Given the description of an element on the screen output the (x, y) to click on. 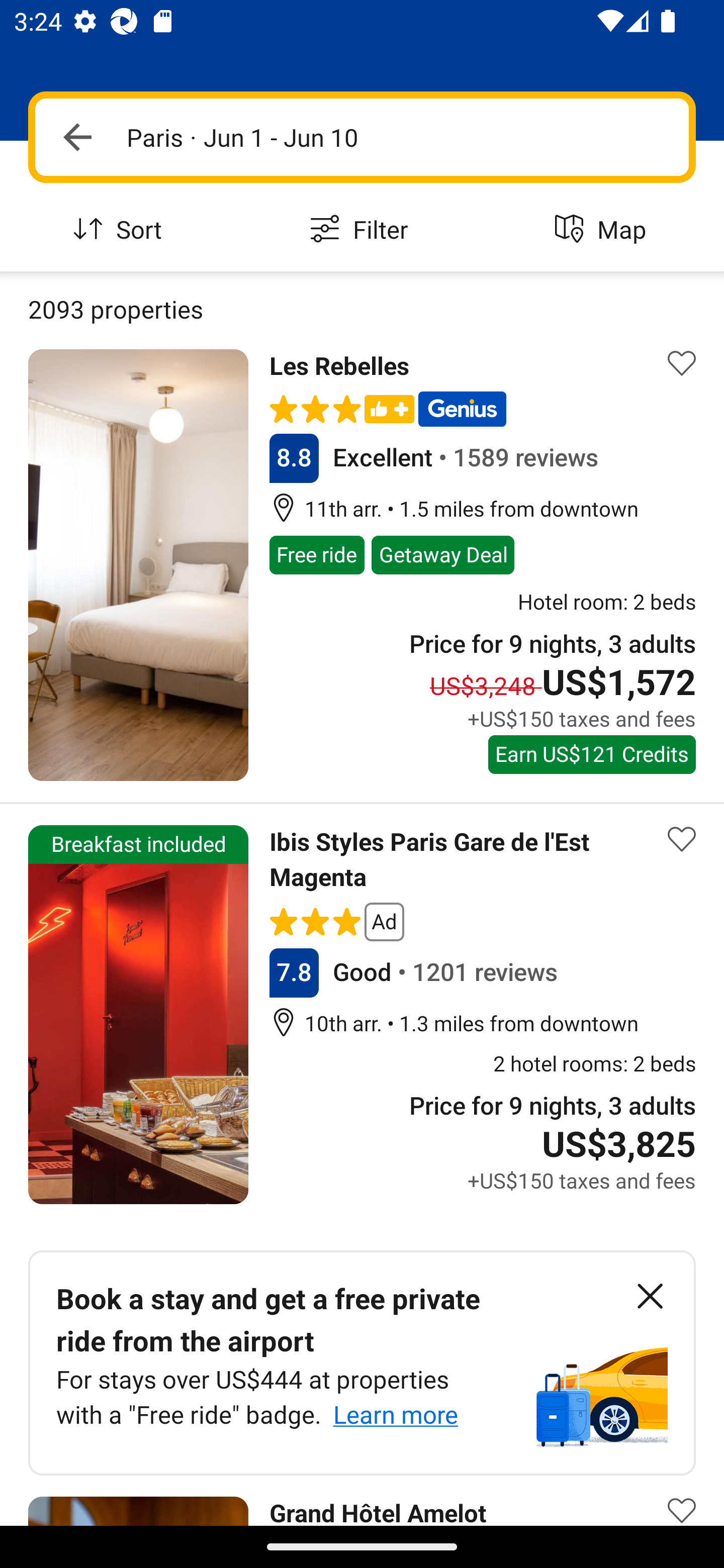
Navigate up Paris · Jun 1 - Jun 10 (362, 136)
Navigate up (77, 136)
Sort (120, 230)
Filter (361, 230)
Map (603, 230)
Save property to list (681, 363)
Save property to list (681, 838)
Dismiss banner button (650, 1296)
Save property to list (681, 1497)
